Given the description of an element on the screen output the (x, y) to click on. 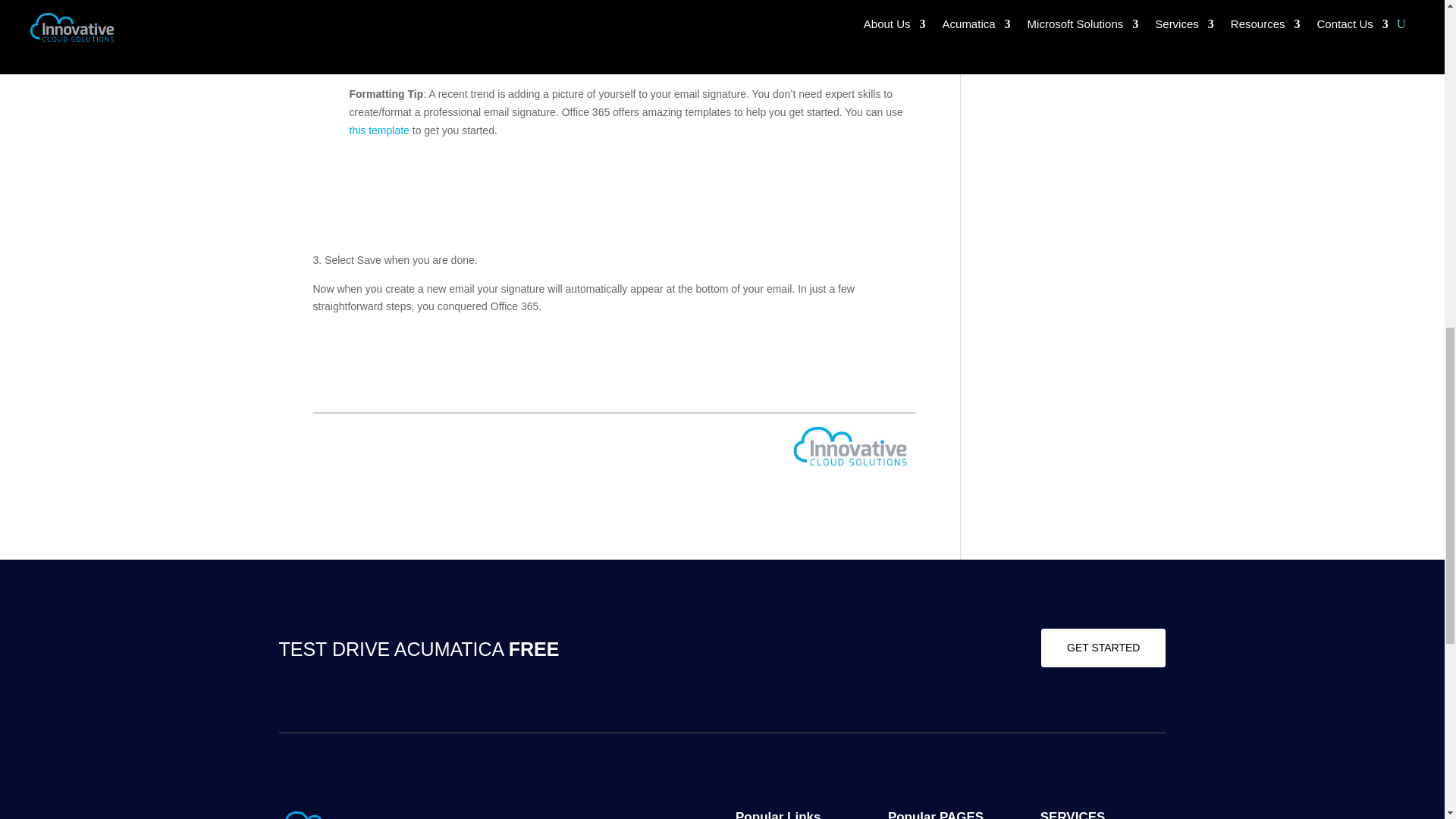
ICS Logo (320, 815)
